Given the description of an element on the screen output the (x, y) to click on. 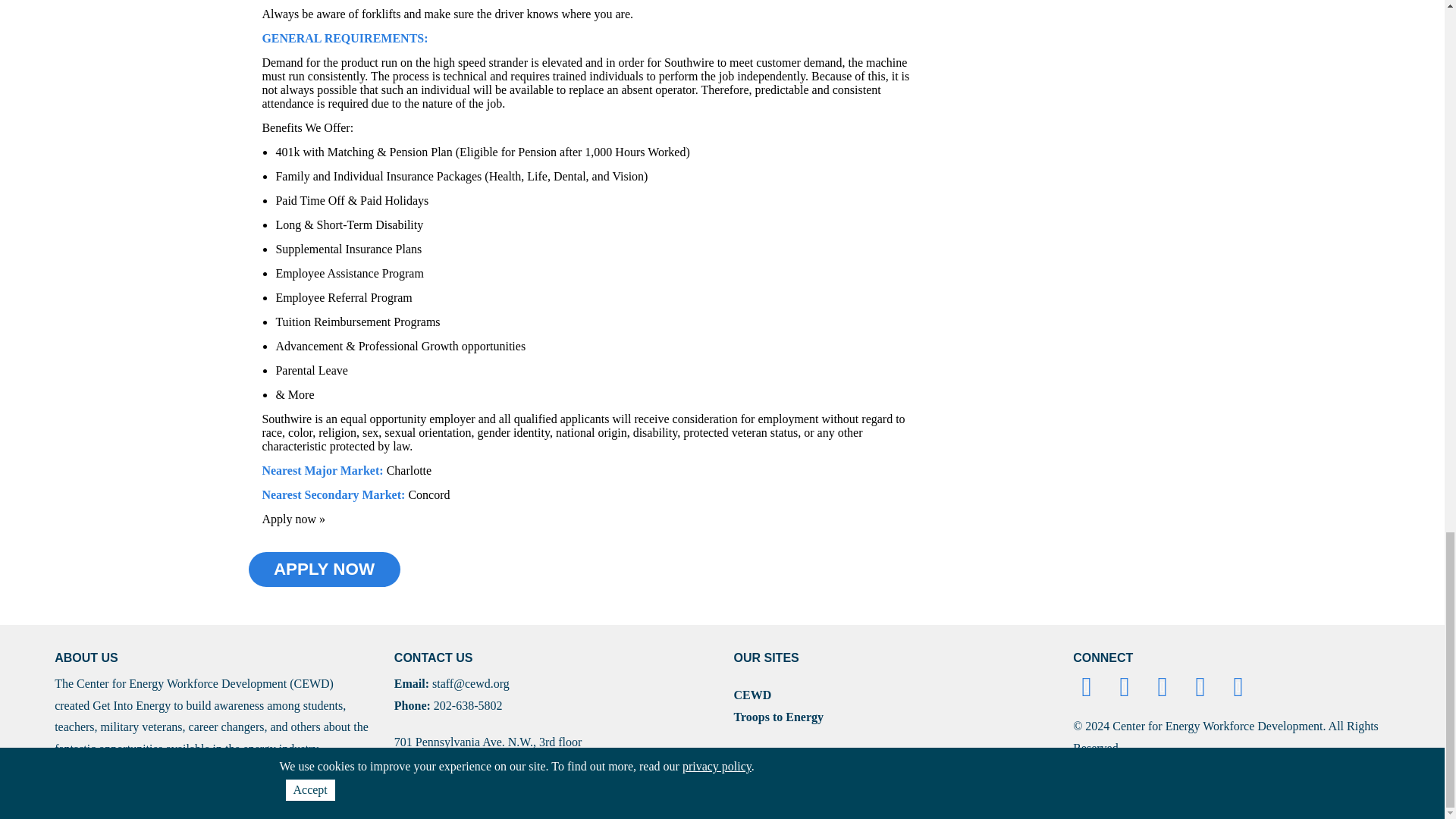
APPLY NOW (324, 569)
